Given the description of an element on the screen output the (x, y) to click on. 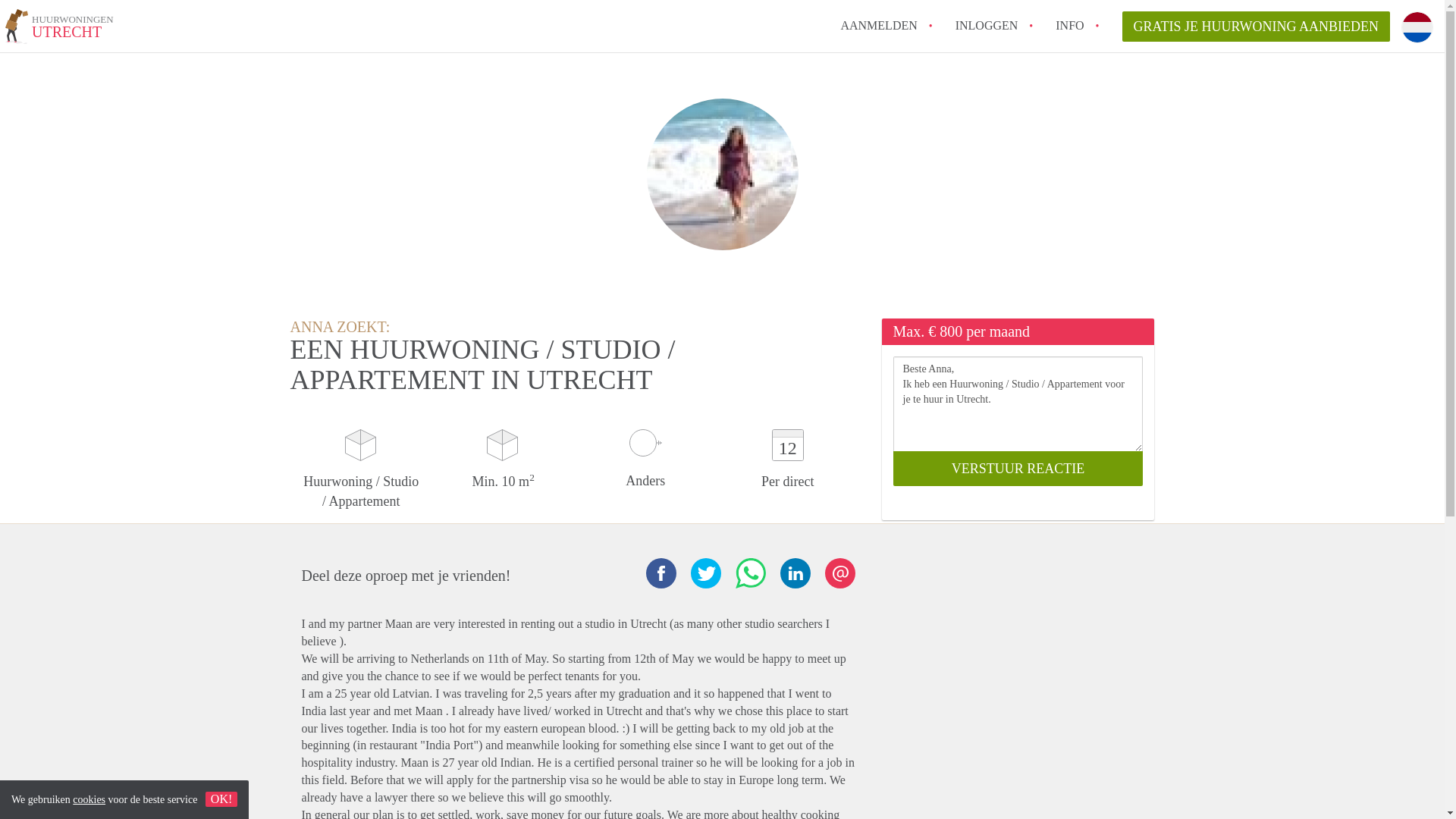
Inloggen met je gegevens (986, 25)
VERSTUUR REACTIE (1017, 468)
Aanmelden voor een nieuw account (878, 25)
INFO (1069, 25)
cookies (88, 799)
Antwoorden op veelgestelde vragen (59, 28)
AANMELDEN (1069, 25)
OK! (878, 25)
Gratis je Huurwoning aanbieden (221, 798)
